Given the description of an element on the screen output the (x, y) to click on. 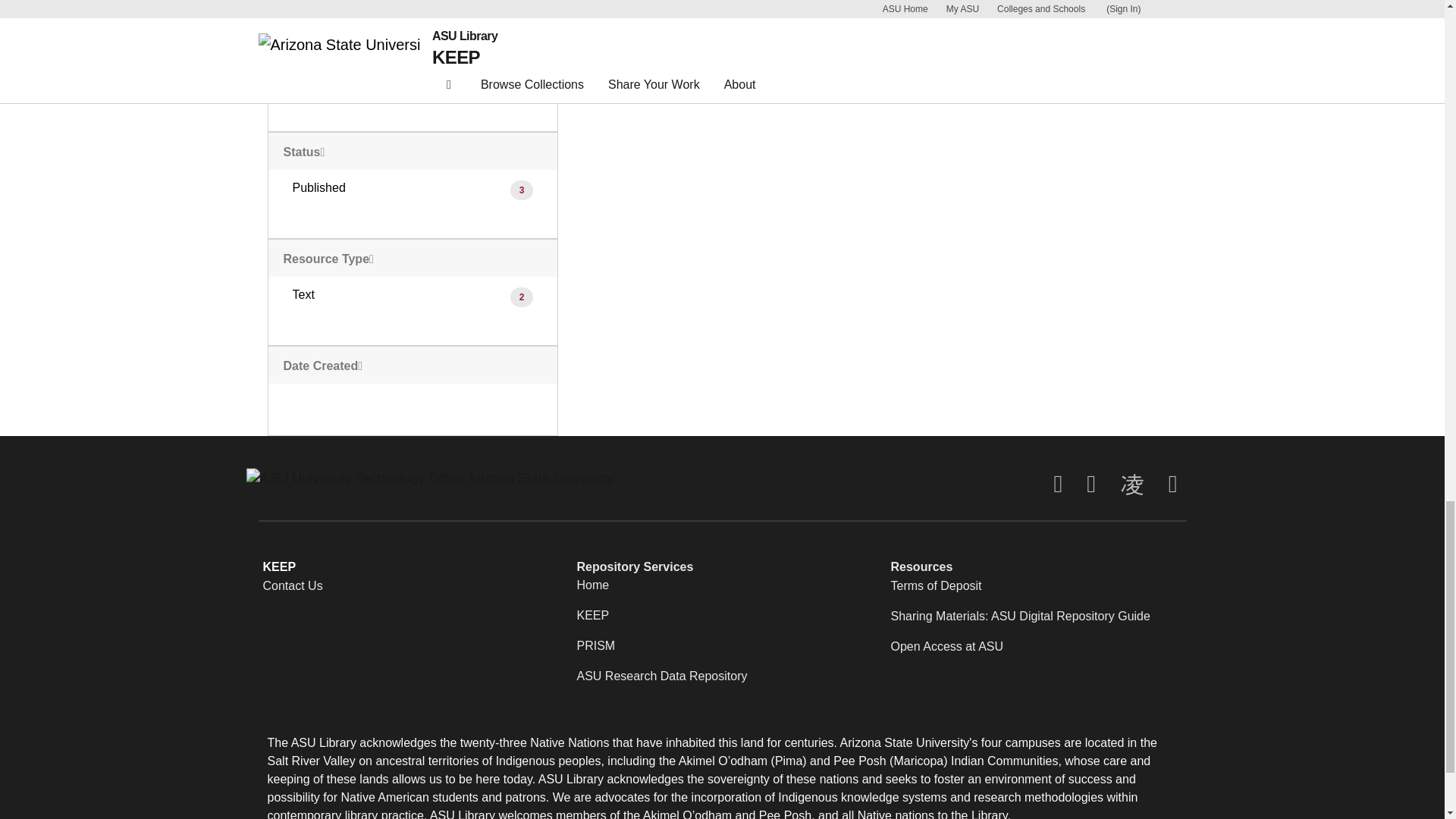
ASU Library Twitter (1091, 484)
ASU Library Facebook (1057, 484)
